Given the description of an element on the screen output the (x, y) to click on. 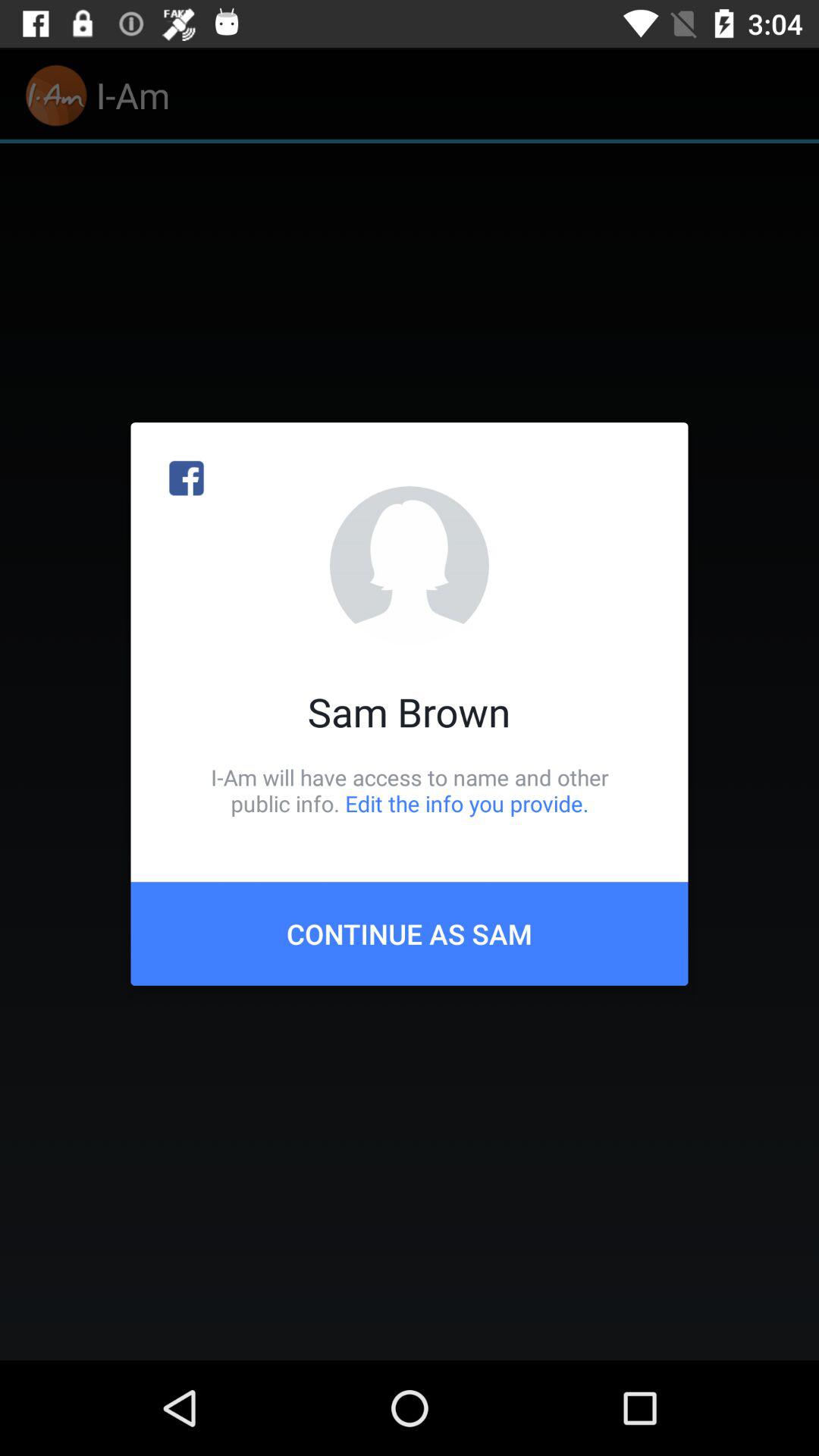
turn off continue as sam (409, 933)
